Given the description of an element on the screen output the (x, y) to click on. 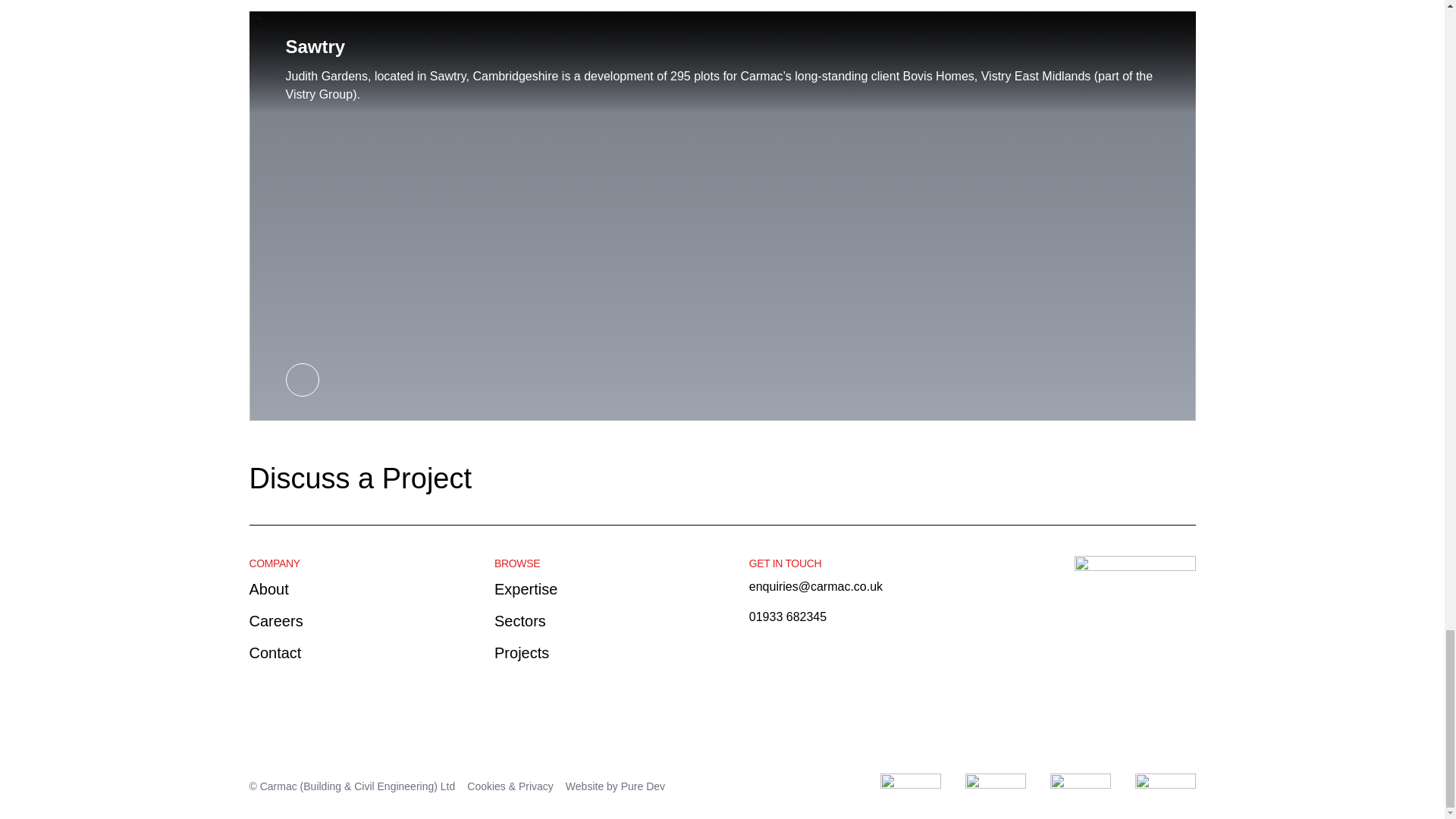
Careers (275, 620)
Expertise (526, 588)
Sectors (520, 620)
About (268, 588)
Contact (274, 651)
Discuss a Project (365, 478)
